Given the description of an element on the screen output the (x, y) to click on. 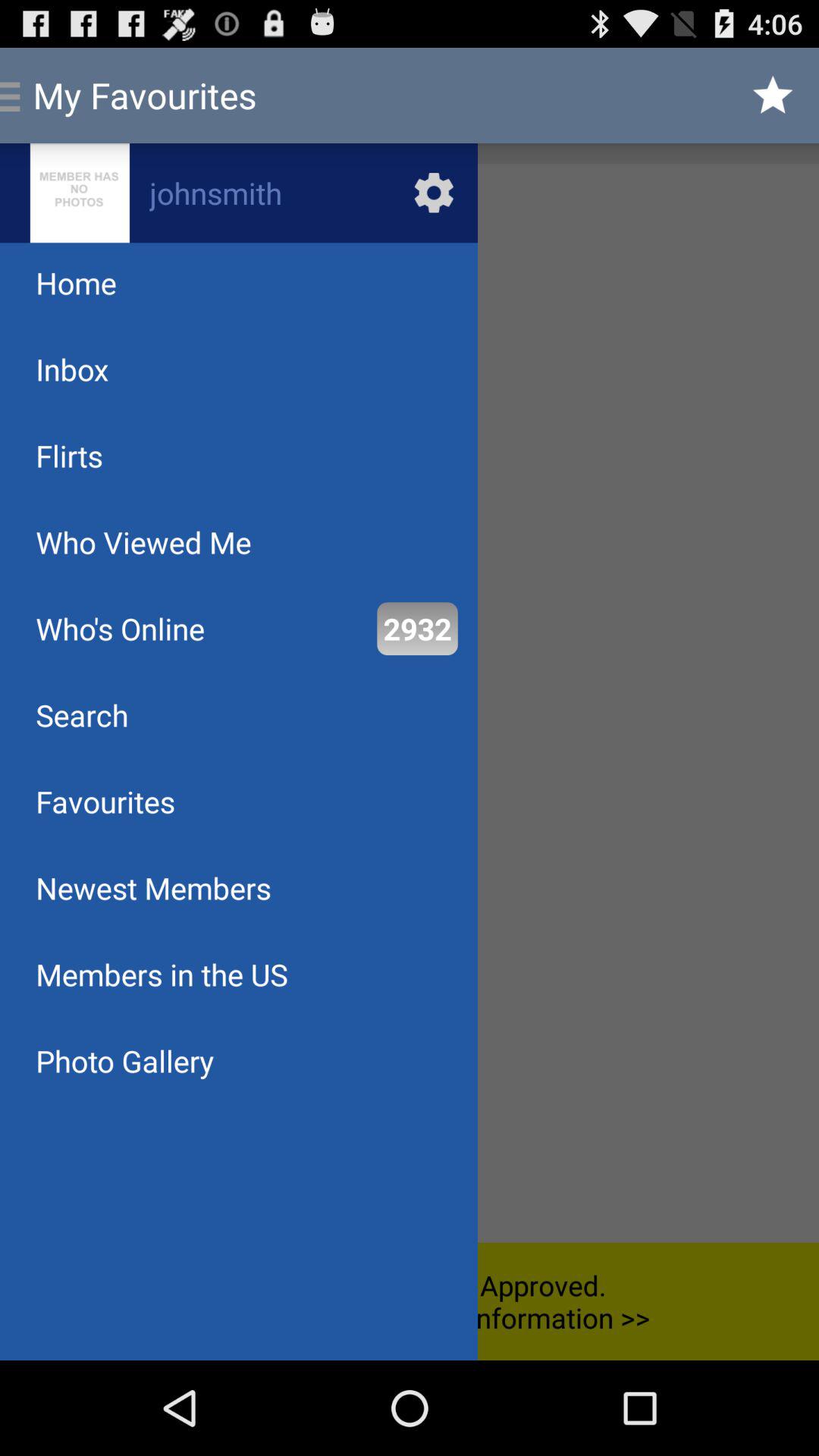
choose newest members (153, 887)
